Given the description of an element on the screen output the (x, y) to click on. 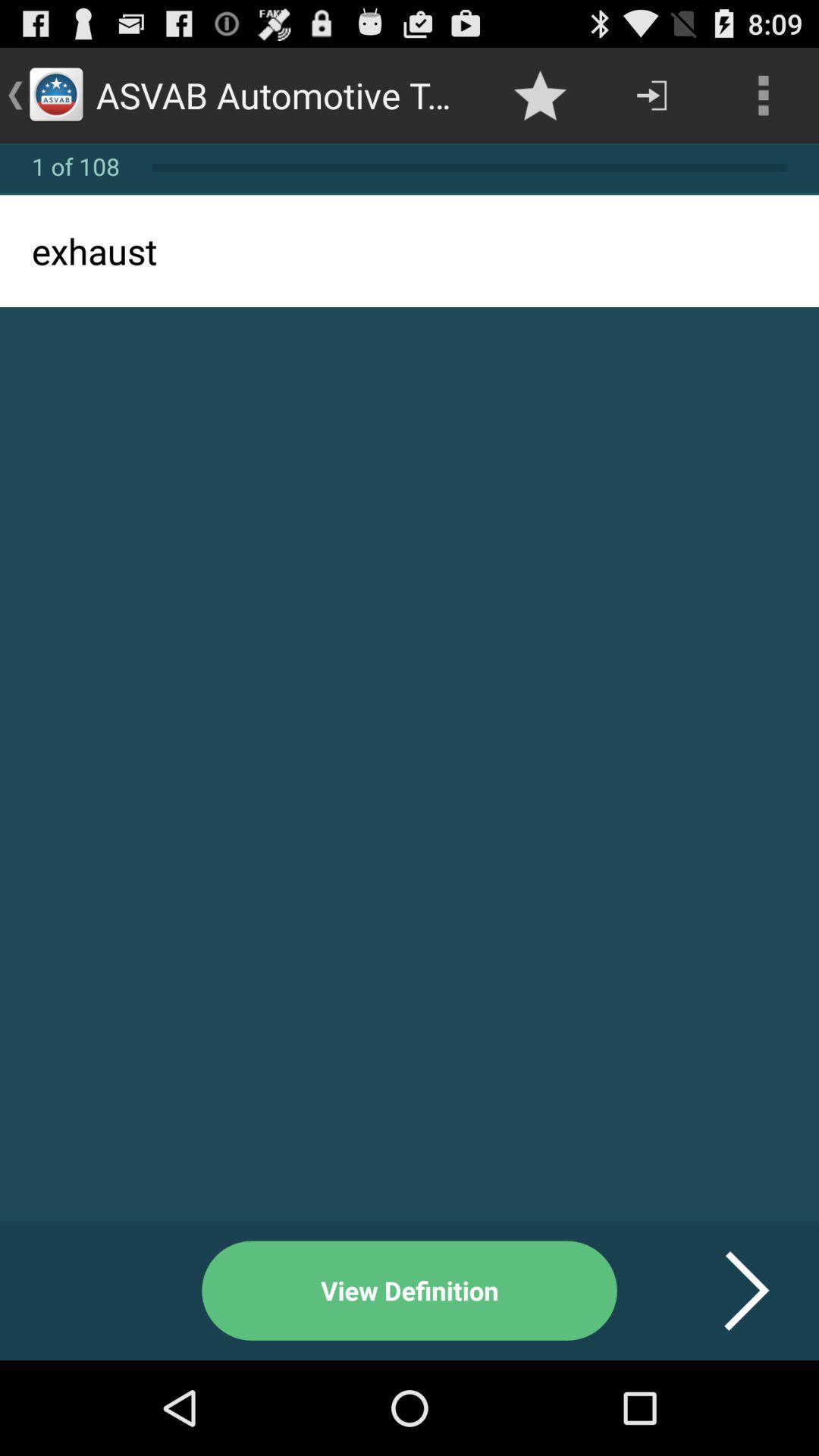
choose item to the right of the view definition icon (728, 1290)
